Given the description of an element on the screen output the (x, y) to click on. 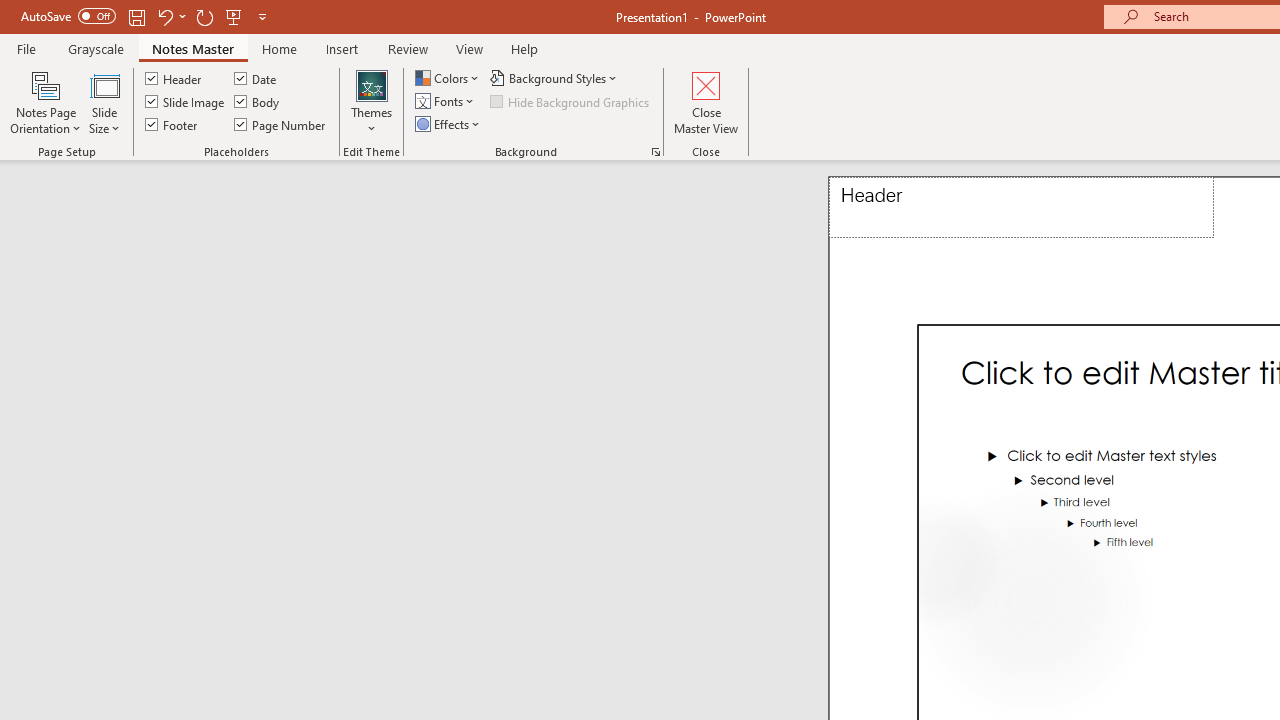
Format Background... (655, 151)
Effects (449, 124)
Header (1021, 207)
Header (174, 78)
Hide Background Graphics (570, 101)
Grayscale (96, 48)
Fonts (446, 101)
Themes (372, 102)
